Given the description of an element on the screen output the (x, y) to click on. 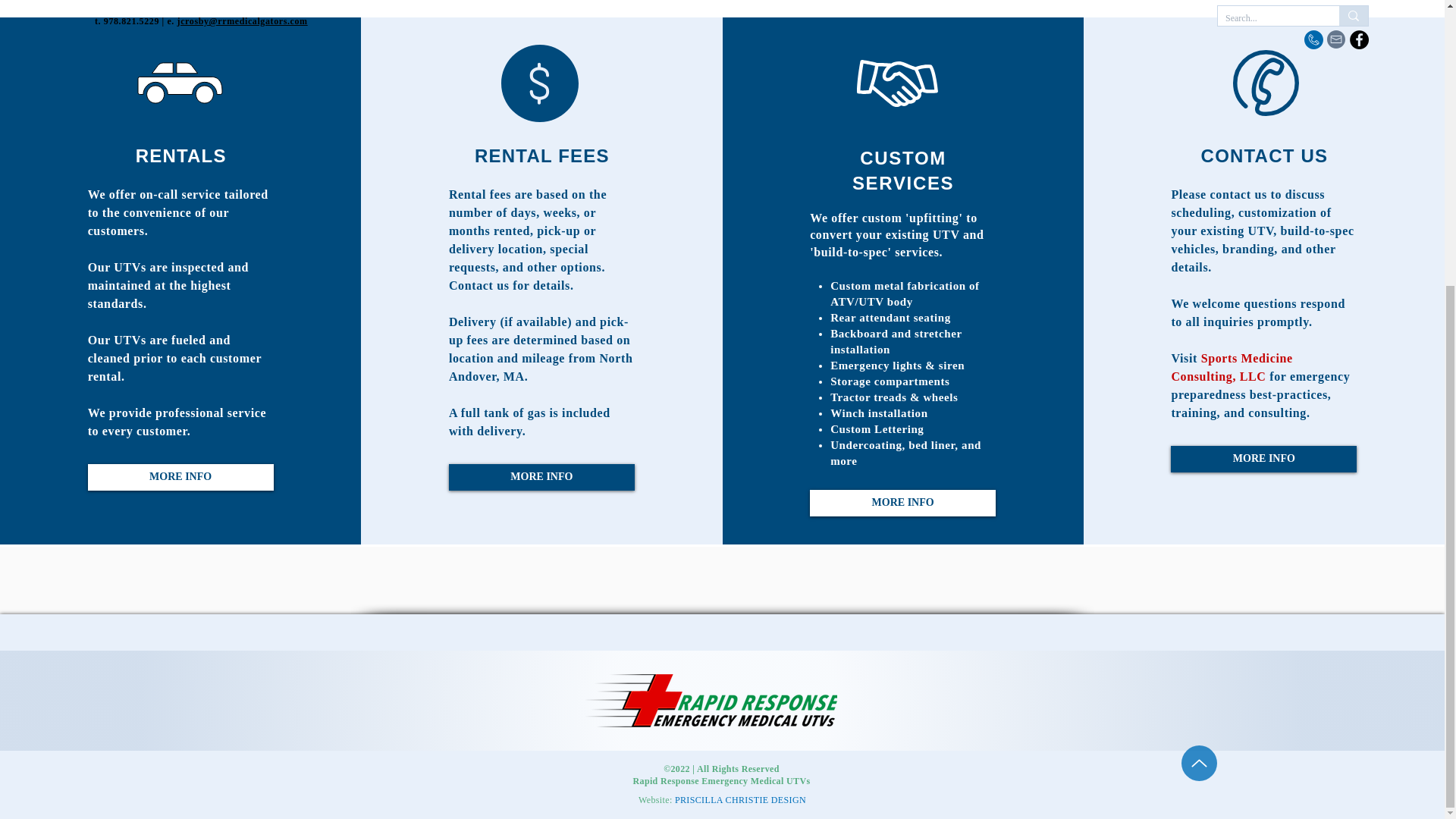
Contact us (478, 285)
MORE INFO (541, 477)
MORE INFO (1263, 458)
PRISCILLA CHRISTIE DESIGN (740, 799)
Sports Medicine Consulting, LLC (1231, 367)
MORE INFO (902, 502)
MORE INFO (180, 477)
Website: (655, 799)
